Given the description of an element on the screen output the (x, y) to click on. 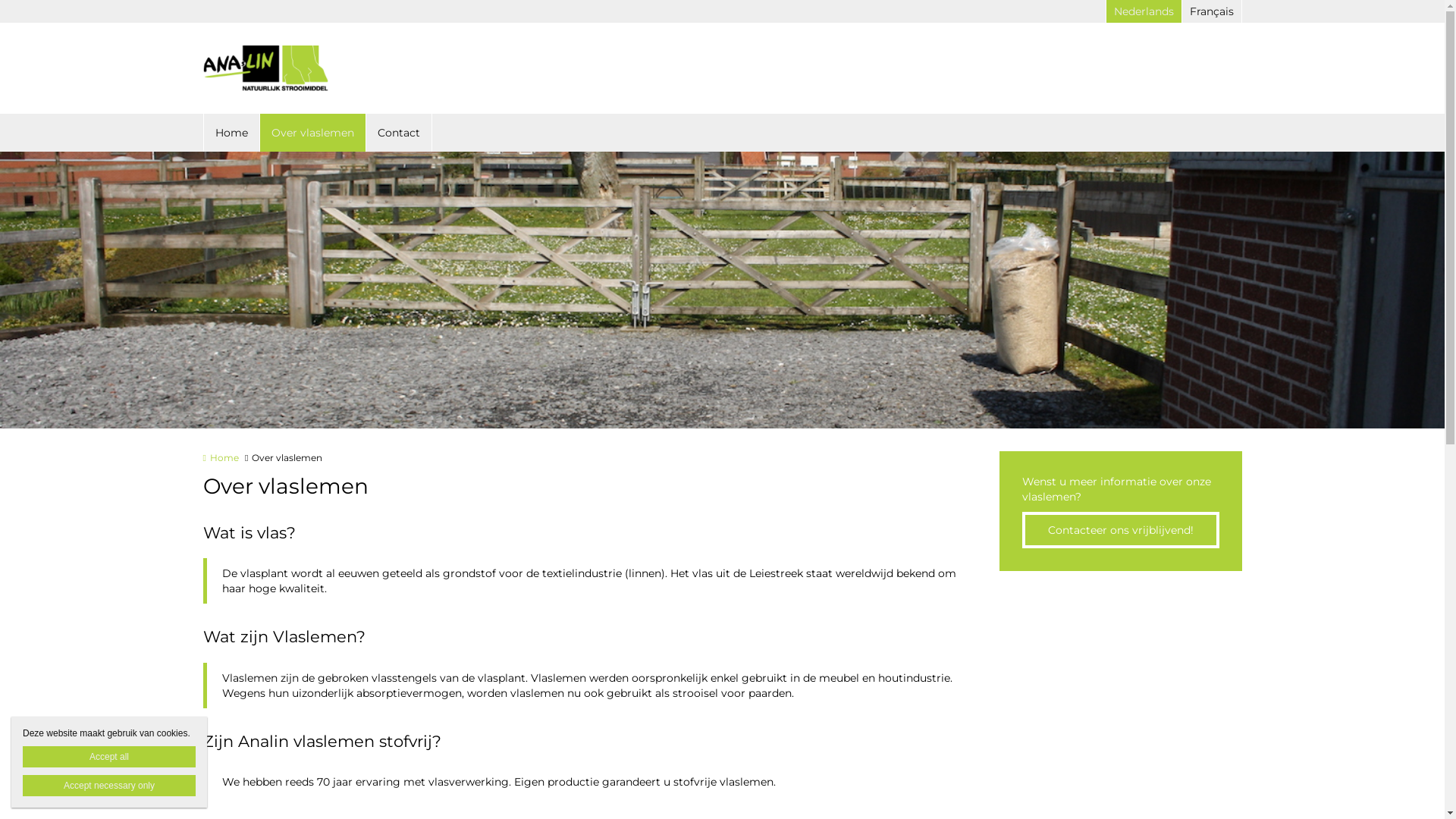
Accept necessary only Element type: text (108, 785)
Accept all Element type: text (108, 756)
Contact Element type: text (398, 132)
Nederlands Element type: text (1143, 11)
Overslaan en naar de inhoud gaan Element type: text (81, 0)
Home | Analin Element type: hover (266, 68)
Over vlaslemen Element type: text (312, 132)
Home Element type: text (220, 457)
Contacteer ons vrijblijvend! Element type: text (1120, 529)
Home | Analin Element type: hover (288, 68)
Home Element type: text (231, 132)
